Given the description of an element on the screen output the (x, y) to click on. 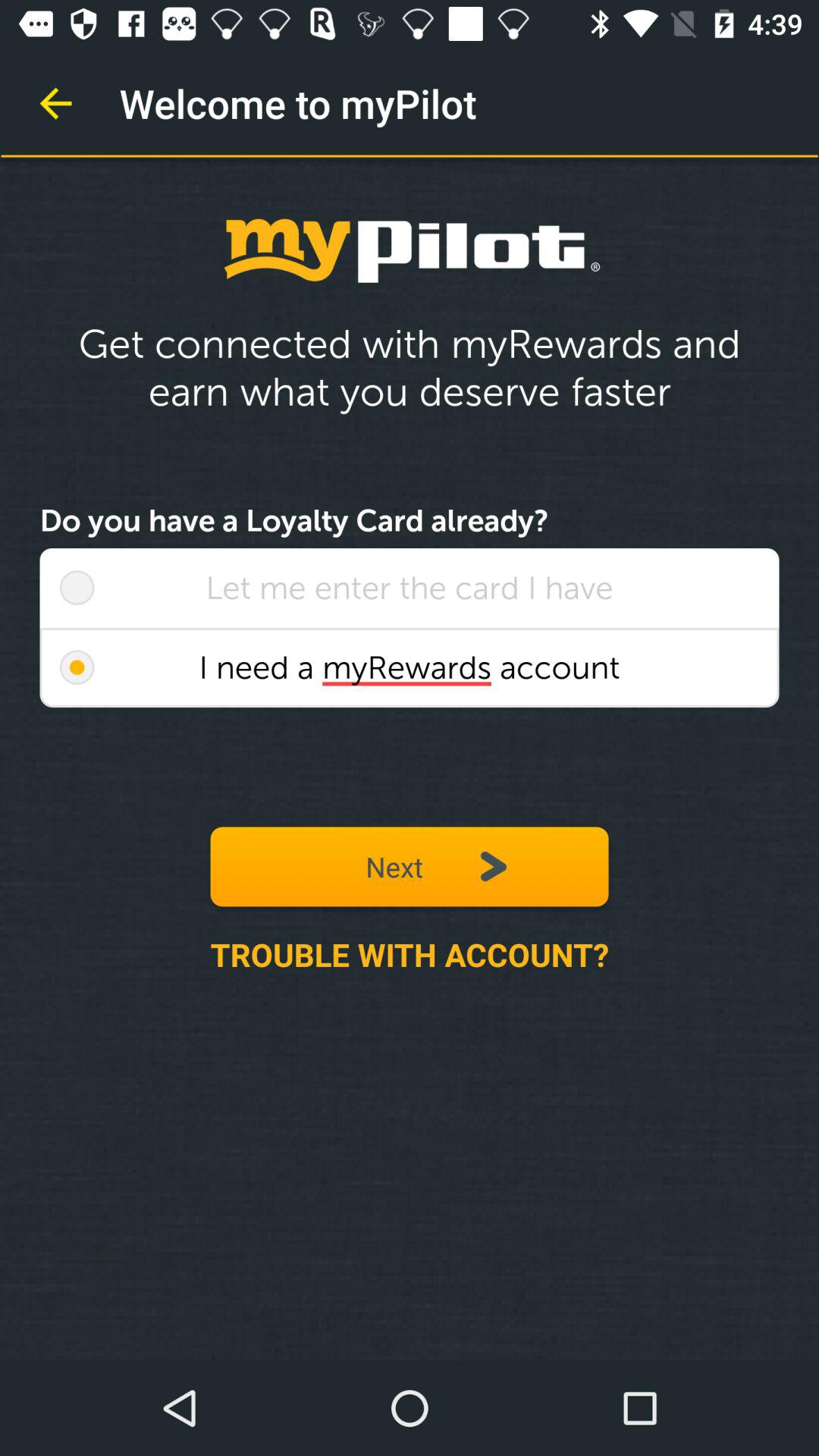
tap icon above next item (409, 667)
